Given the description of an element on the screen output the (x, y) to click on. 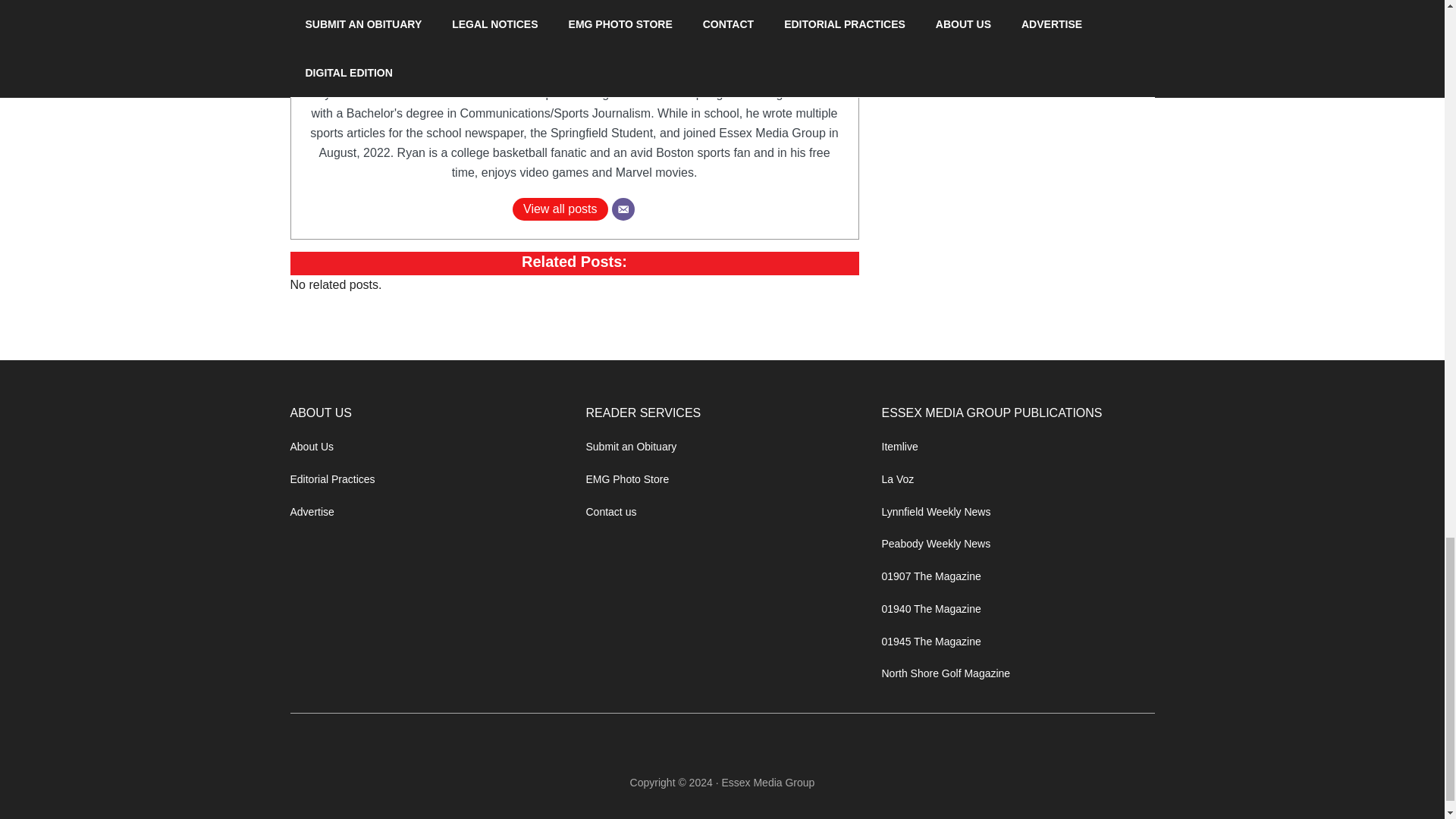
About Us (311, 446)
Ryan Vermette (574, 64)
Editorial Practices (331, 479)
Submit an Obituary (631, 446)
Advertise (311, 511)
Ryan Vermette (574, 64)
View all posts (560, 209)
View all posts (560, 209)
